Given the description of an element on the screen output the (x, y) to click on. 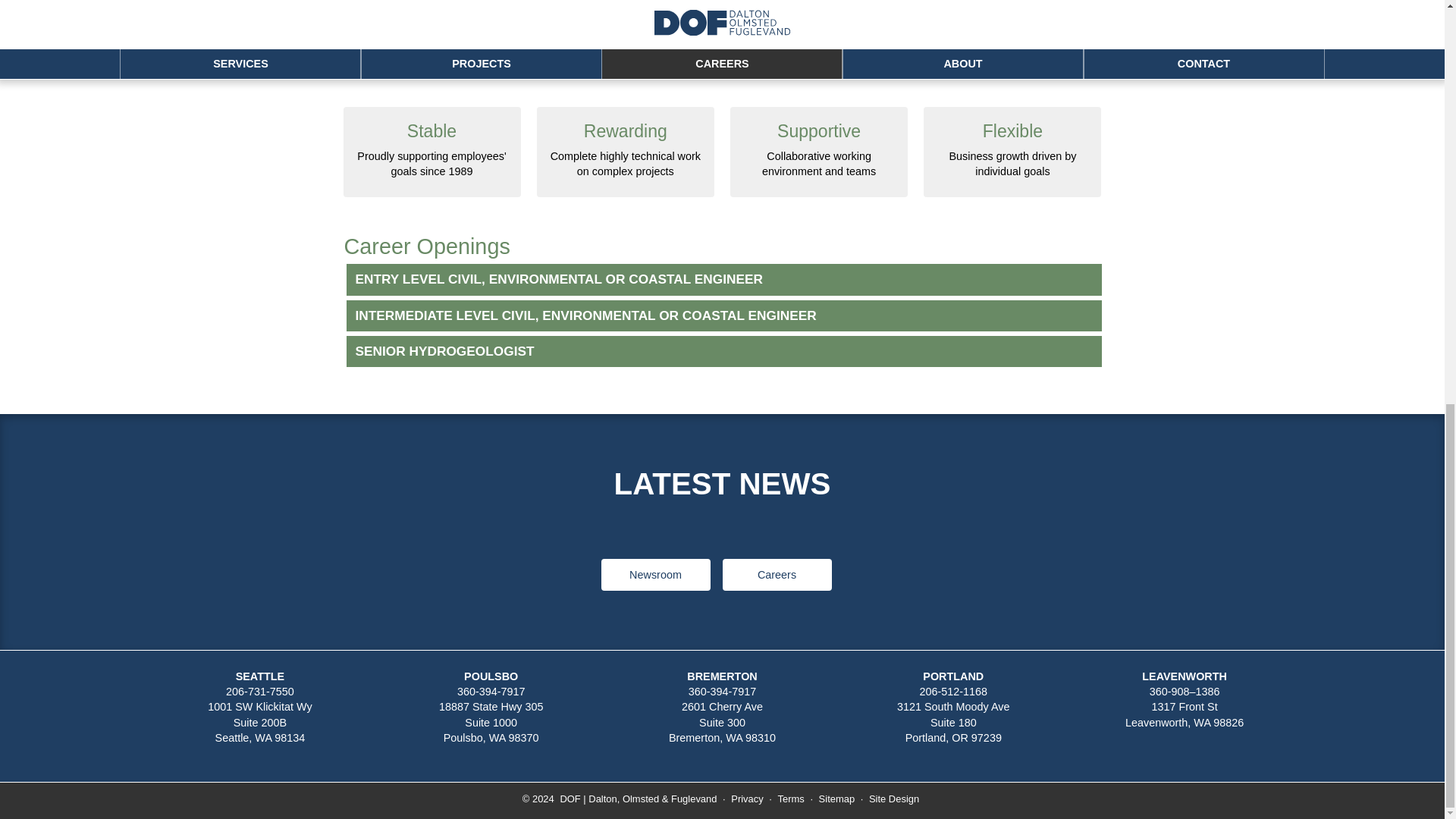
Careers (1184, 714)
360-394-7917 (776, 574)
206-512-1168 (491, 691)
206-731-7550 (722, 721)
360-394-7917 (952, 691)
Newsroom (259, 691)
SENIOR HYDROGEOLOGIST (722, 691)
INTERMEDIATE LEVEL CIVIL, ENVIRONMENTAL OR COASTAL ENGINEER (654, 574)
ENTRY LEVEL CIVIL, ENVIRONMENTAL OR COASTAL ENGINEER (259, 721)
